Given the description of an element on the screen output the (x, y) to click on. 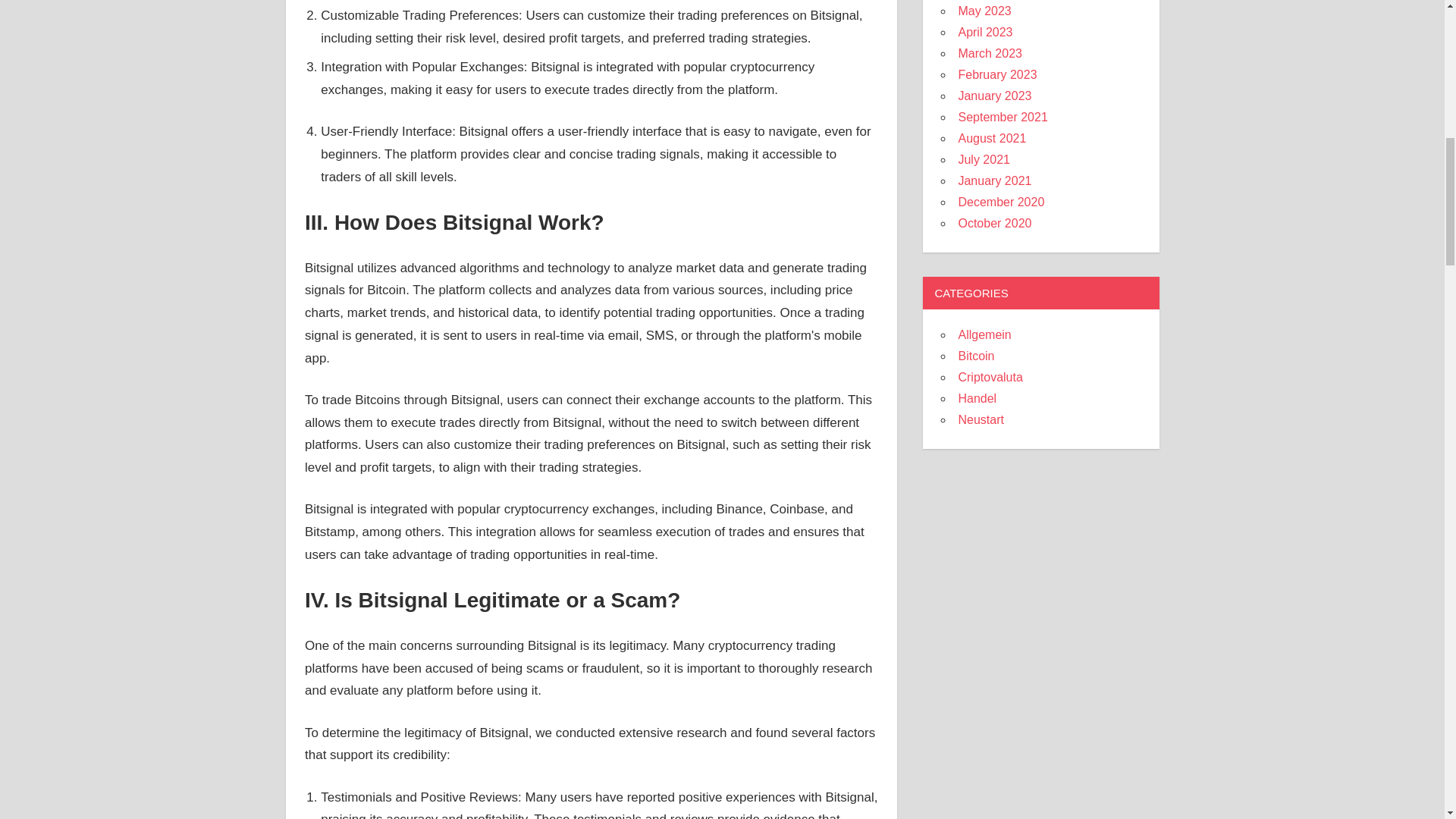
Criptovaluta (990, 377)
January 2023 (994, 95)
December 2020 (1000, 201)
Handel (976, 398)
October 2020 (994, 223)
July 2021 (984, 159)
May 2023 (984, 10)
September 2021 (1002, 116)
January 2021 (994, 180)
April 2023 (984, 31)
March 2023 (990, 52)
Neustart (980, 419)
August 2021 (992, 137)
Bitcoin (976, 355)
Allgemein (984, 334)
